Given the description of an element on the screen output the (x, y) to click on. 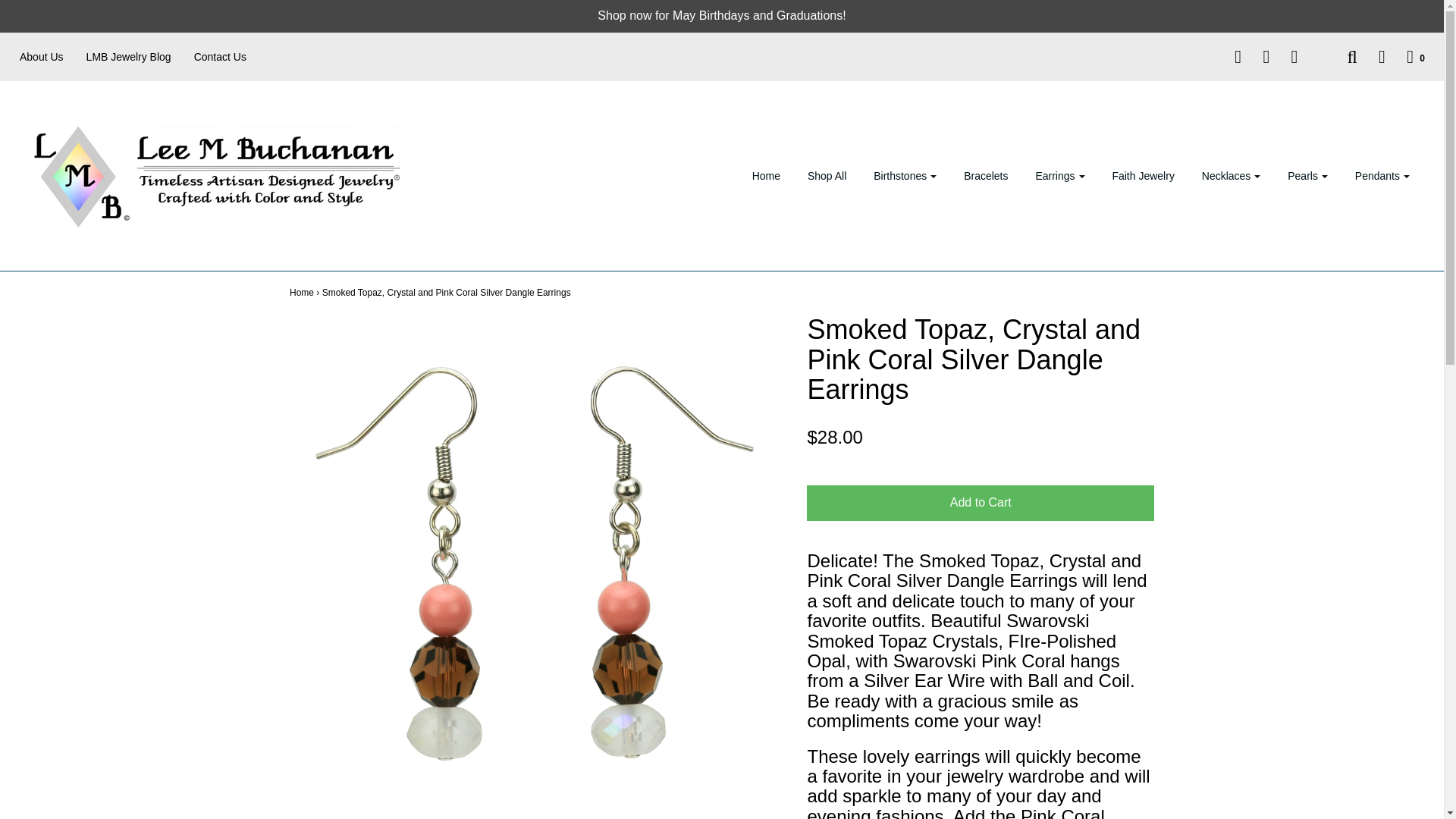
Earrings (1059, 175)
0 (1406, 56)
About Us (52, 56)
Search (1341, 56)
Home (766, 175)
Birthstones (904, 175)
Your Cart (1406, 56)
Log in (1372, 56)
LMB Jewelry Blog (139, 56)
Contact Us (231, 56)
Bracelets (985, 175)
Shop All (826, 175)
